Given the description of an element on the screen output the (x, y) to click on. 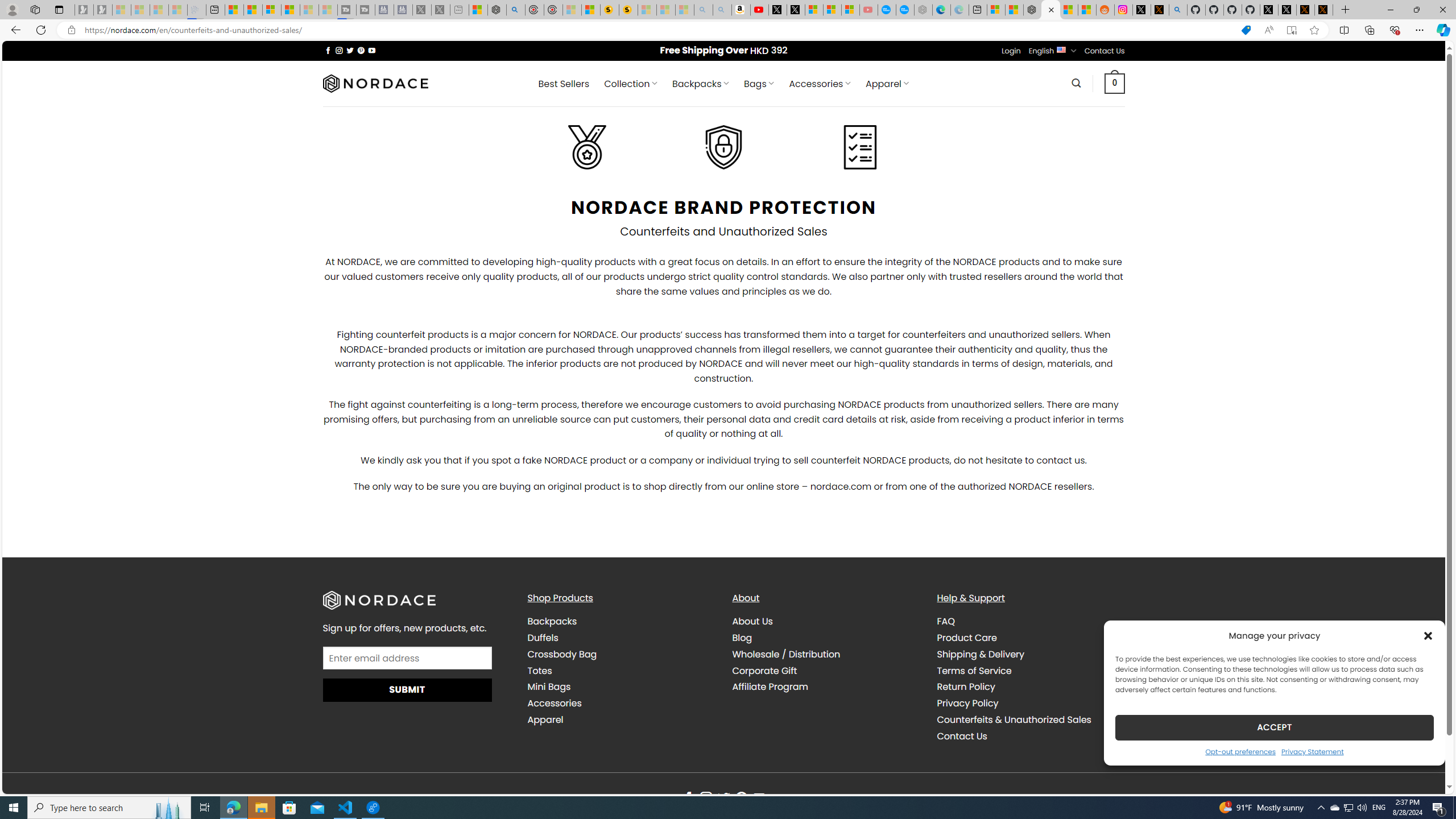
AutomationID: input_4_1 (406, 658)
English (1061, 49)
github - Search (1178, 9)
 0  (1115, 83)
Login (1010, 50)
Overview (271, 9)
